Given the description of an element on the screen output the (x, y) to click on. 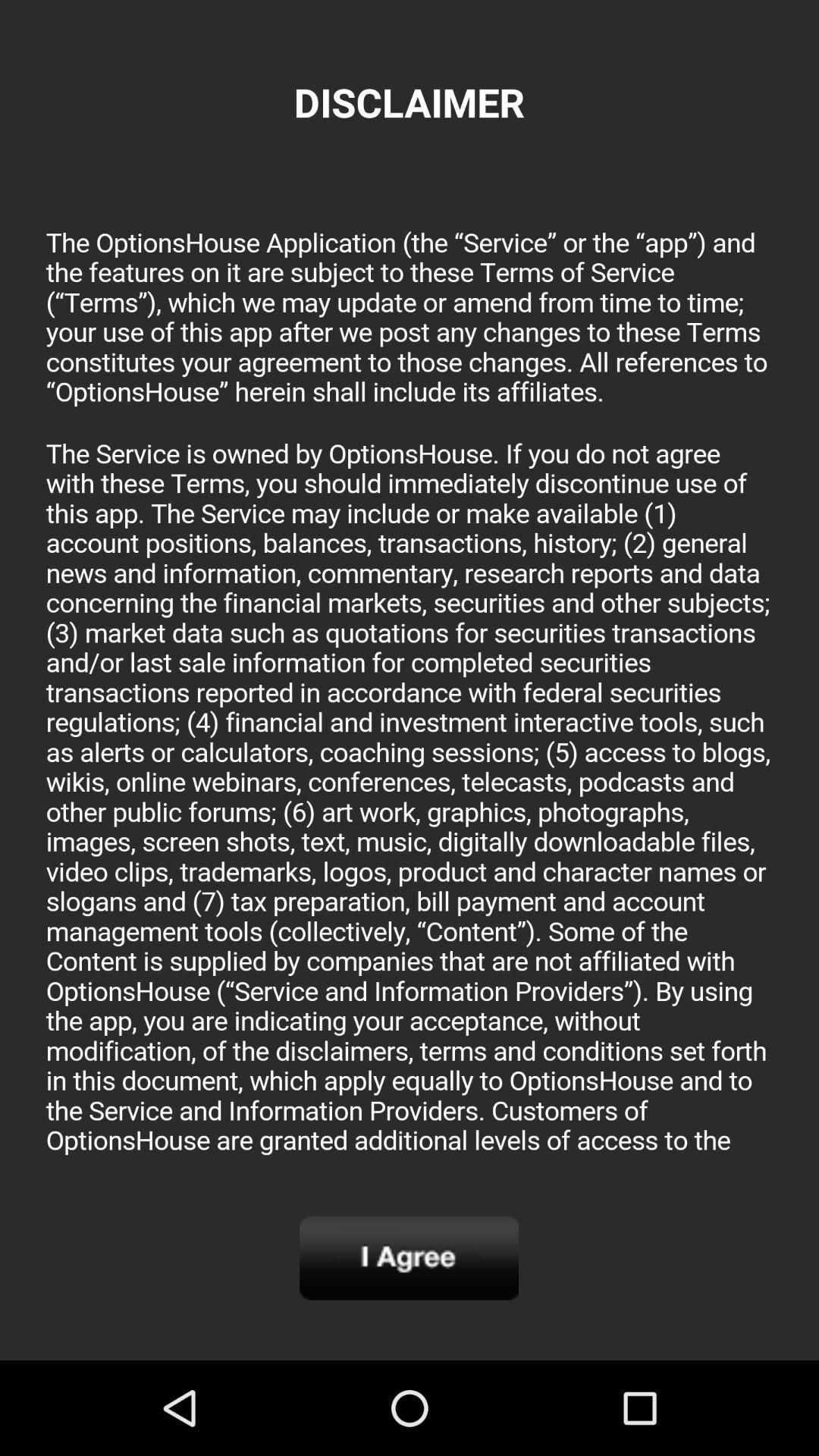
go to disclaimer (409, 685)
